Given the description of an element on the screen output the (x, y) to click on. 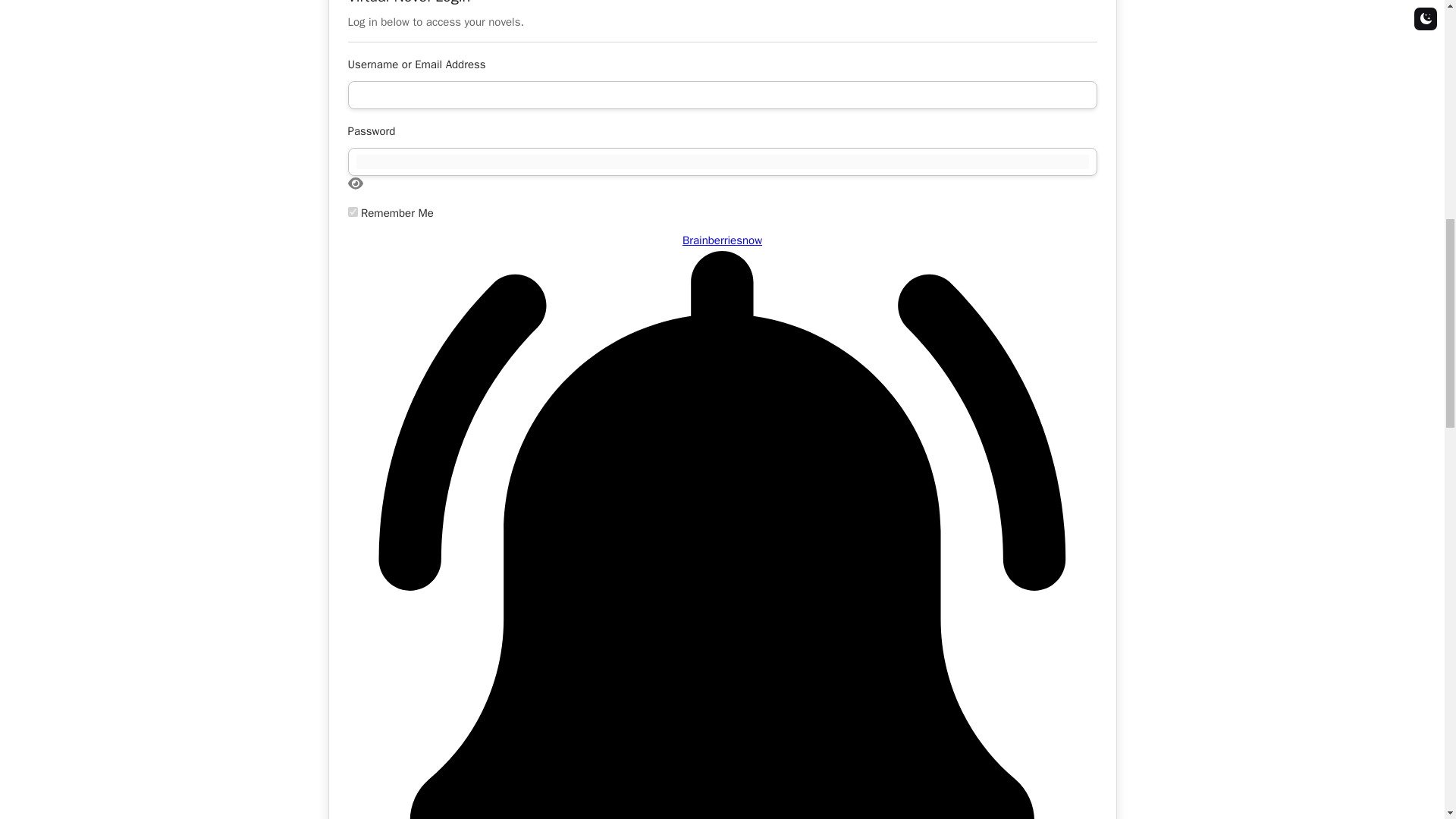
forever (351, 212)
